Given the description of an element on the screen output the (x, y) to click on. 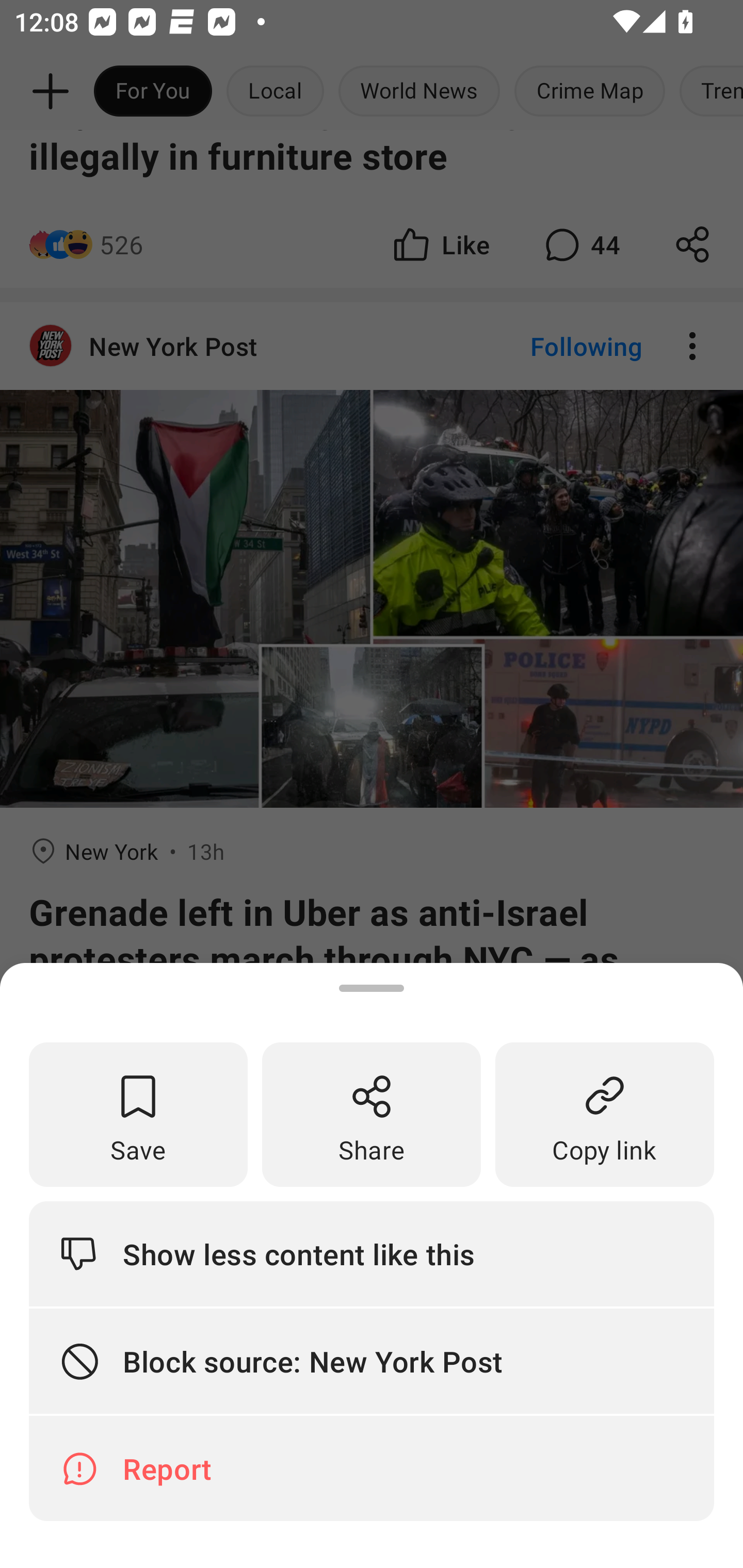
Save (137, 1114)
Share (371, 1114)
Copy link (604, 1114)
Show less content like this (371, 1253)
Block source: New York Post (371, 1361)
Report (371, 1467)
